Given the description of an element on the screen output the (x, y) to click on. 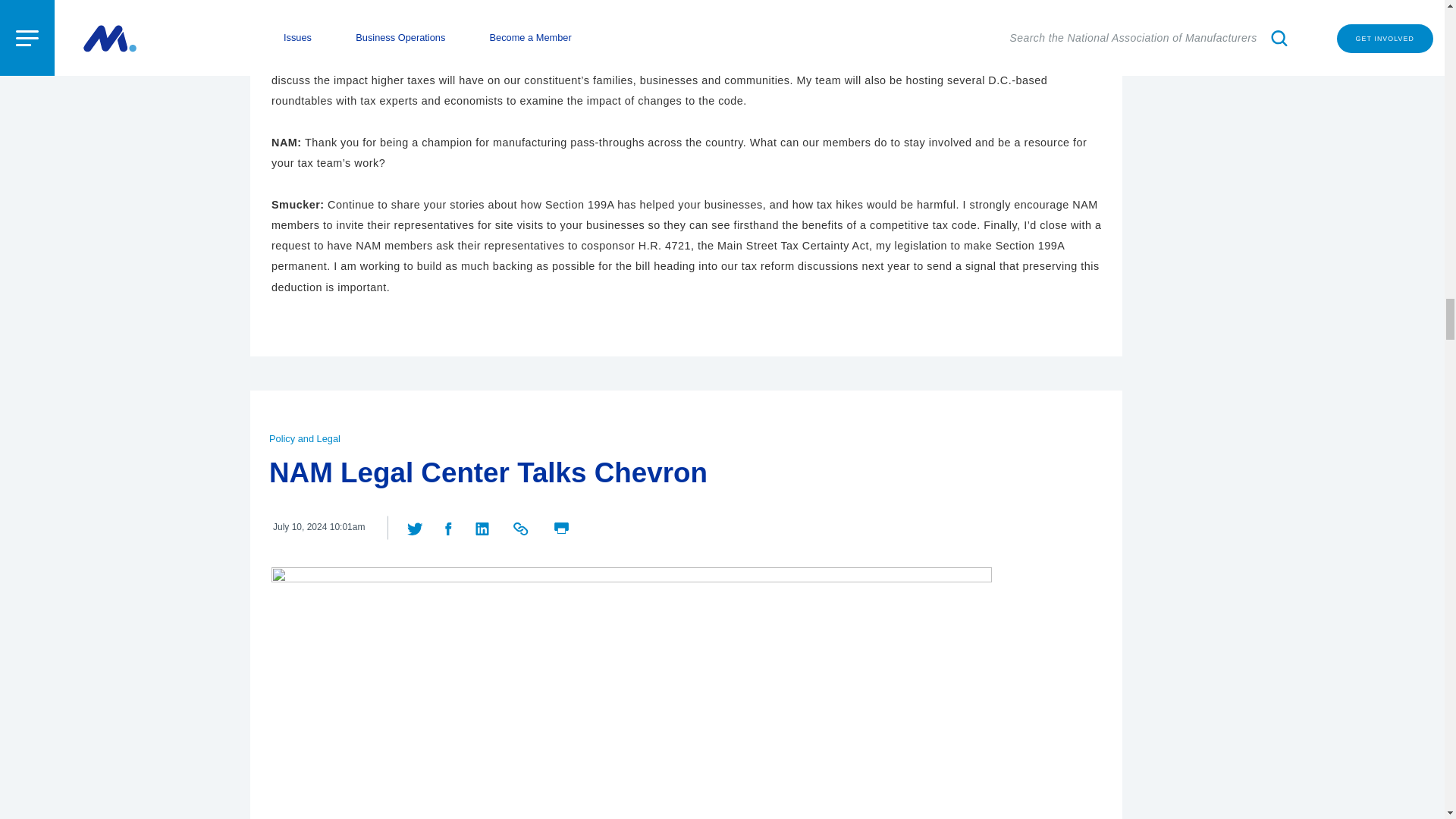
Wednesday, July 10th at 10:01am (319, 527)
